Given the description of an element on the screen output the (x, y) to click on. 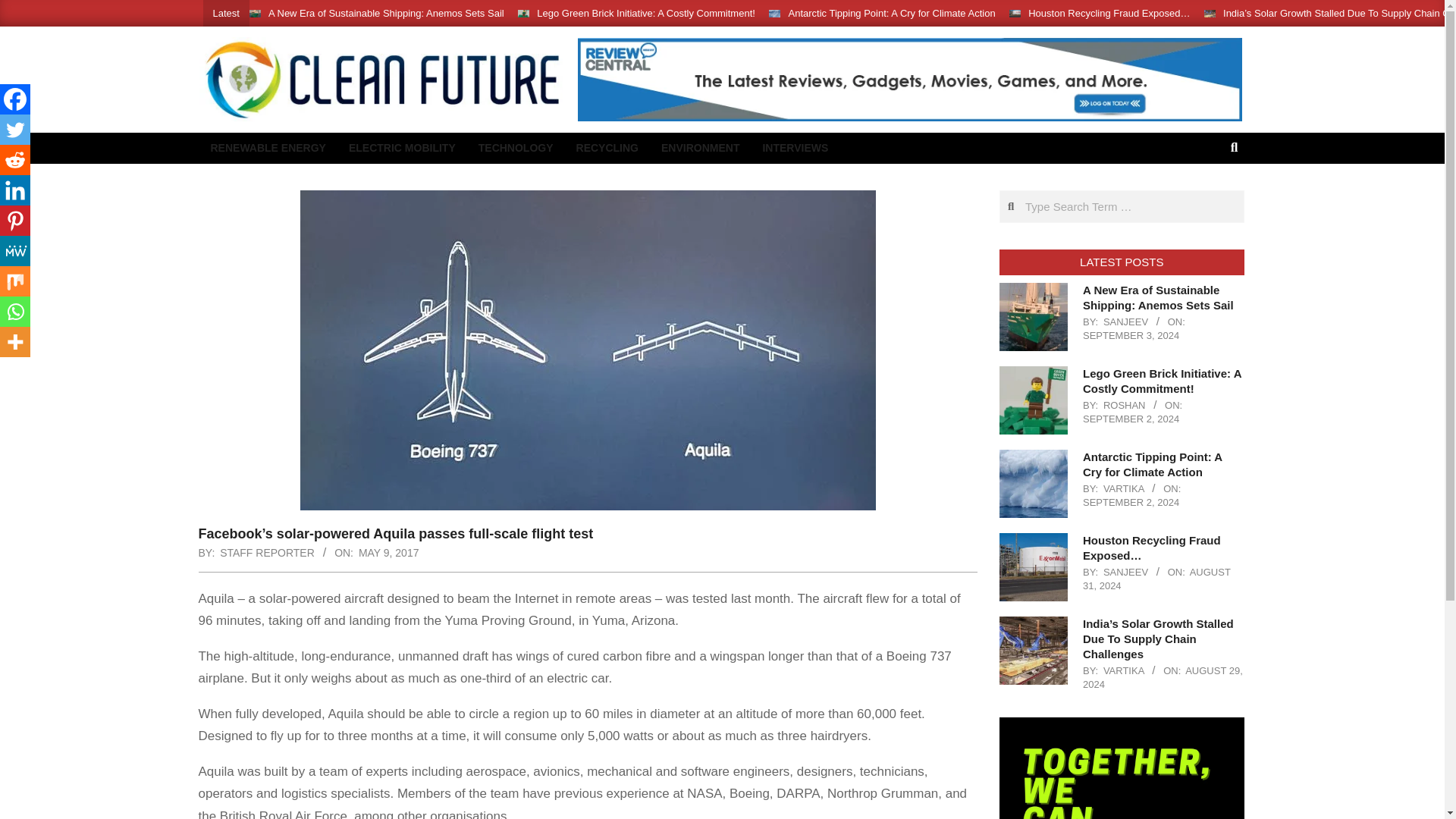
A New Era of Sustainable Shipping: Anemos Sets Sail (1158, 297)
Lego Green Brick Initiative: A Costly Commitment! (646, 12)
Posts by Staff Reporter (266, 552)
Posts by Sanjeev (1125, 321)
Whatsapp (15, 311)
Reddit (15, 159)
Tuesday, September 3, 2024, 2:12 pm (1131, 335)
STAFF REPORTER (266, 552)
A New Era of Sustainable Shipping: Anemos Sets Sail (385, 12)
